Given the description of an element on the screen output the (x, y) to click on. 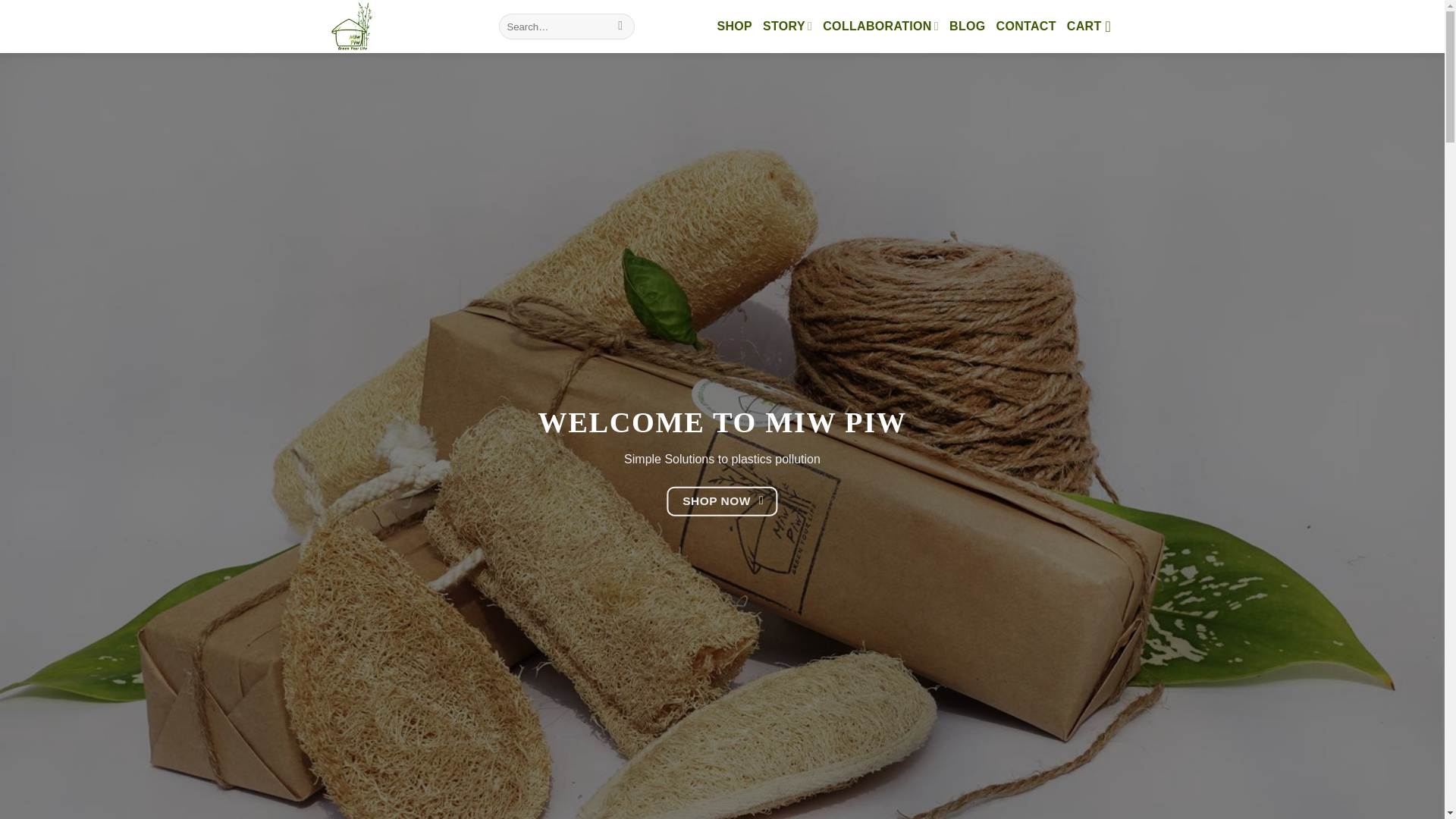
Cart (1094, 26)
MiwPiw Shop (400, 26)
Search (620, 26)
CART (1094, 26)
BLOG (967, 26)
CONTACT (1026, 26)
COLLABORATION (880, 25)
SHOP (734, 26)
STORY (787, 25)
SHOP NOW (721, 501)
